Given the description of an element on the screen output the (x, y) to click on. 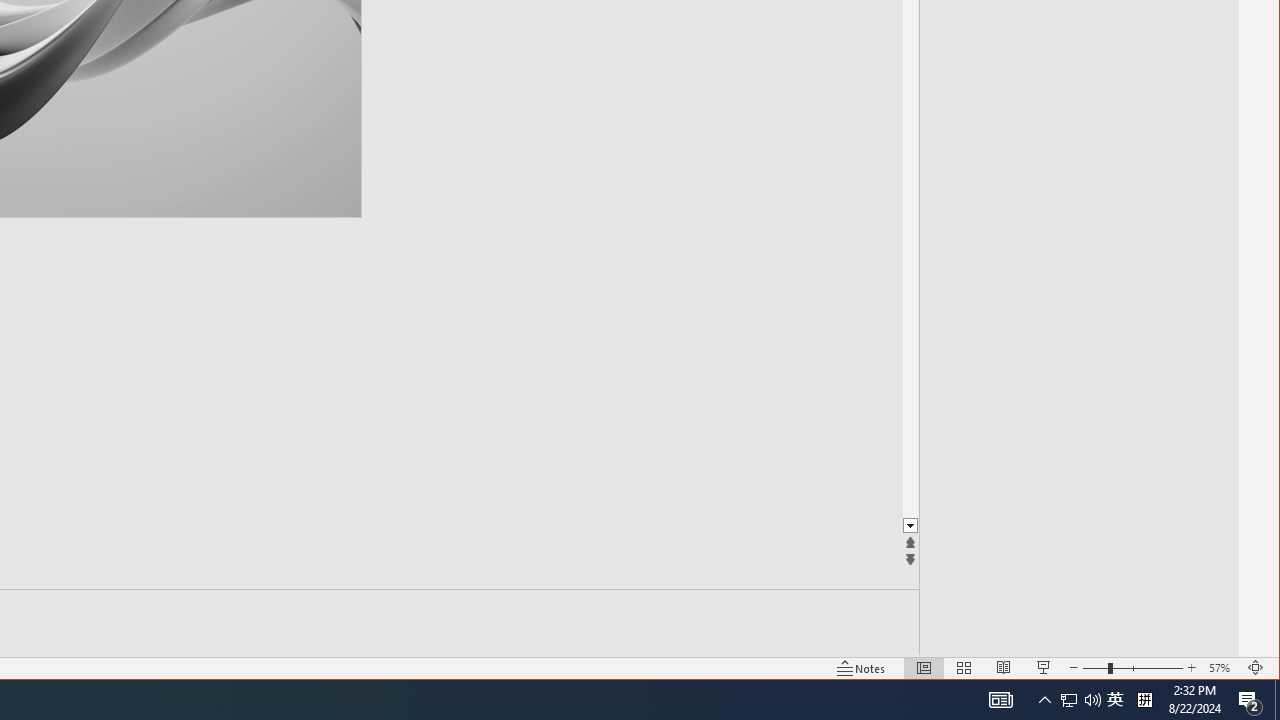
Zoom 57% (1222, 668)
